Given the description of an element on the screen output the (x, y) to click on. 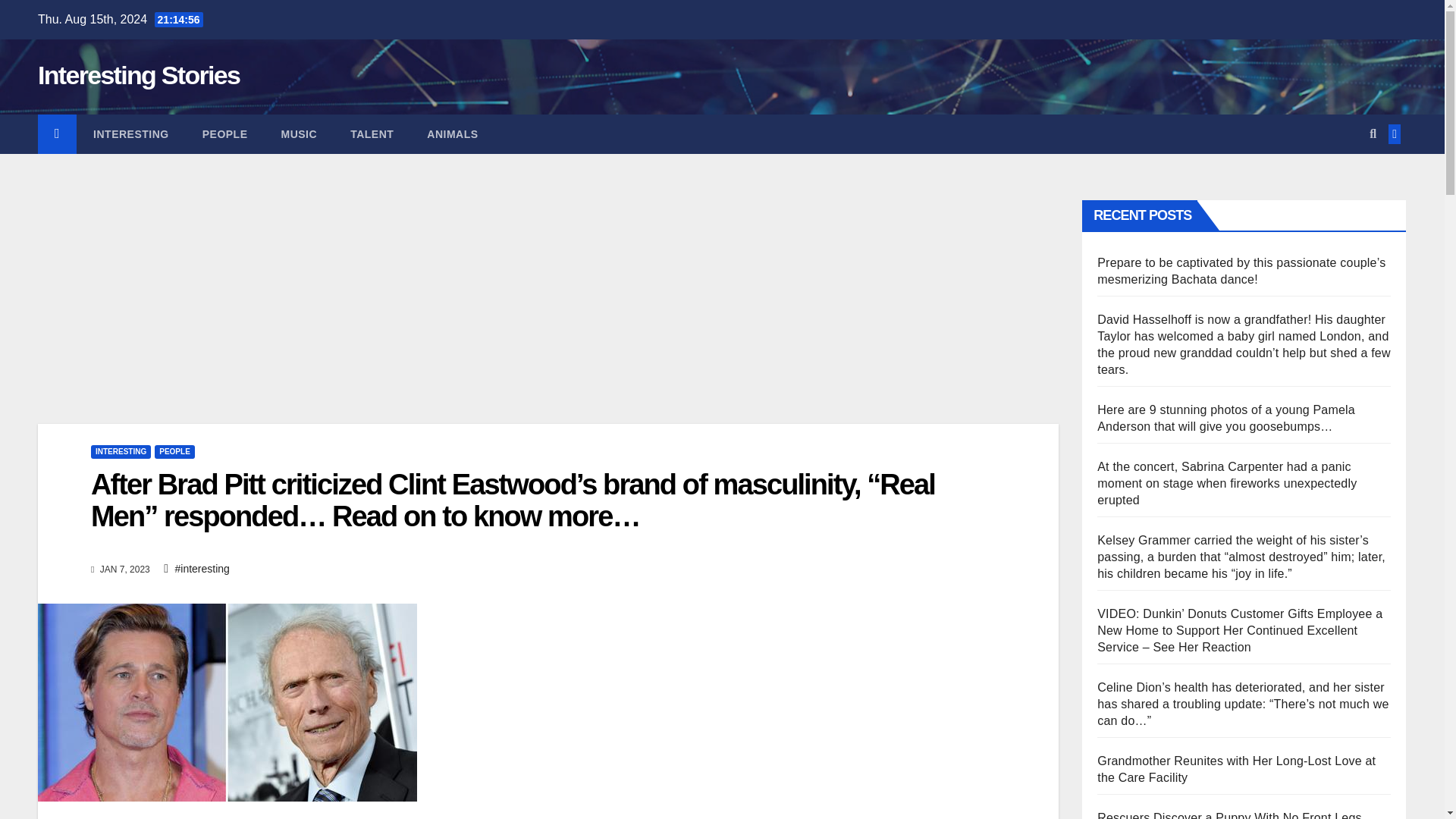
Talent (371, 133)
People (225, 133)
Animals (452, 133)
Interesting Stories (138, 74)
Interesting (131, 133)
PEOPLE (225, 133)
MUSIC (298, 133)
INTERESTING (131, 133)
PEOPLE (174, 451)
